Given the description of an element on the screen output the (x, y) to click on. 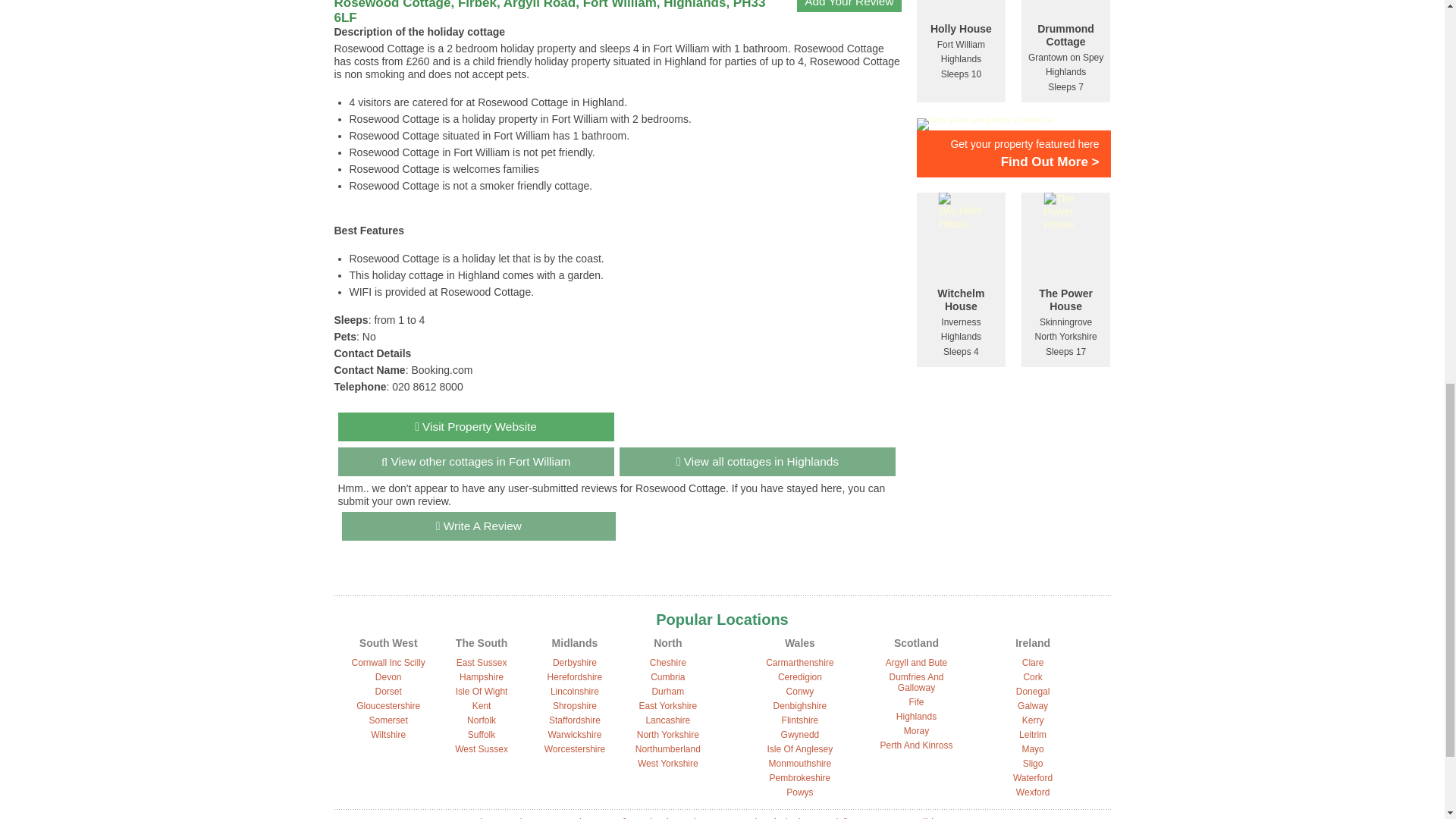
Cornwall Inc Scilly (388, 662)
Visit Property Website (475, 426)
Add Your Review (848, 6)
View other cottages in Fort William (475, 461)
View all cottages in Highlands (757, 461)
View all cottages in Highlands (757, 461)
View other cottages in Fort William (475, 461)
Get your property featured here (1012, 142)
Write A Review (477, 525)
